Given the description of an element on the screen output the (x, y) to click on. 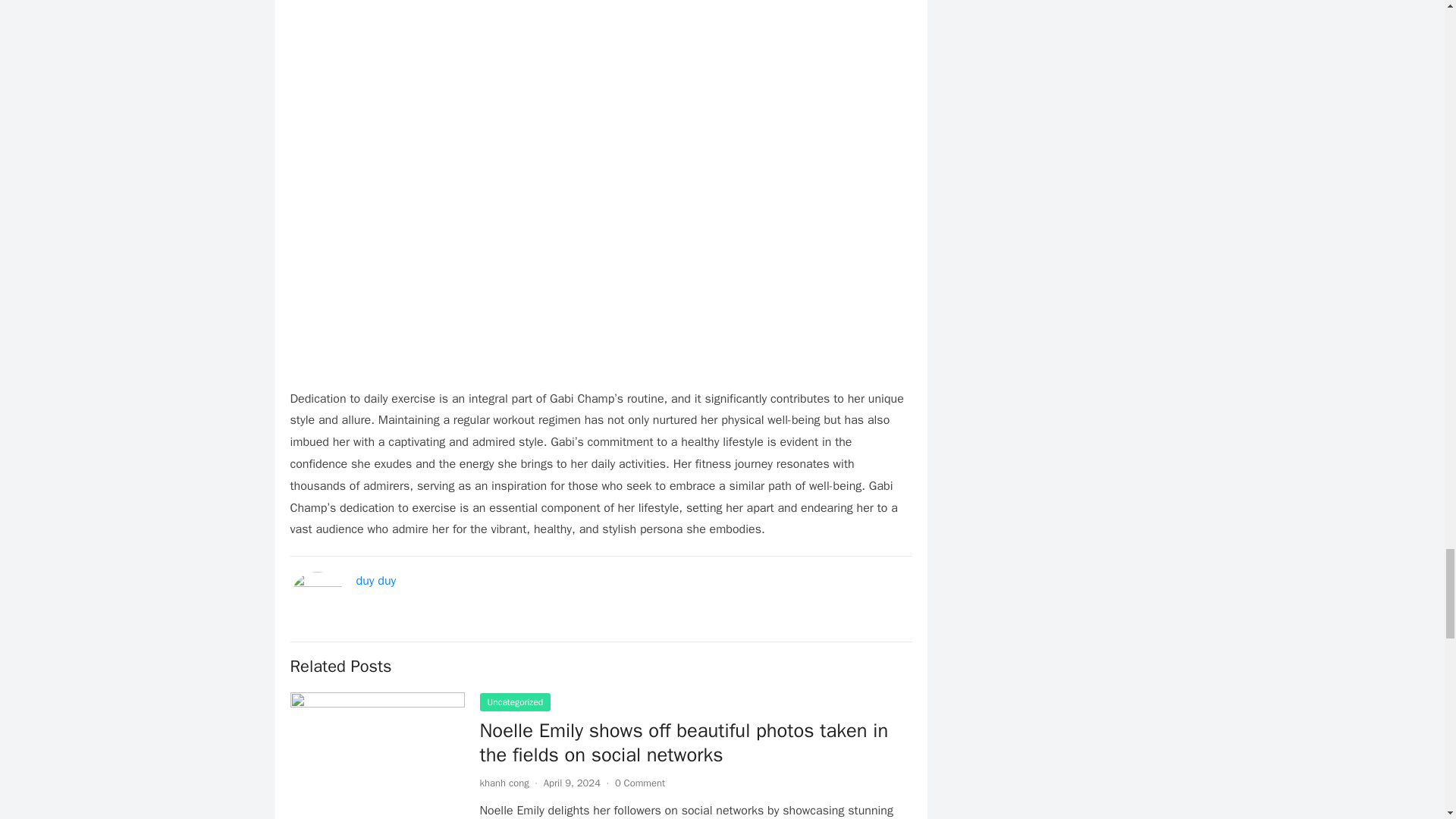
Uncategorized (514, 701)
duy duy (376, 580)
0 Comment (639, 782)
Posts by khanh cong (503, 782)
khanh cong (503, 782)
